Given the description of an element on the screen output the (x, y) to click on. 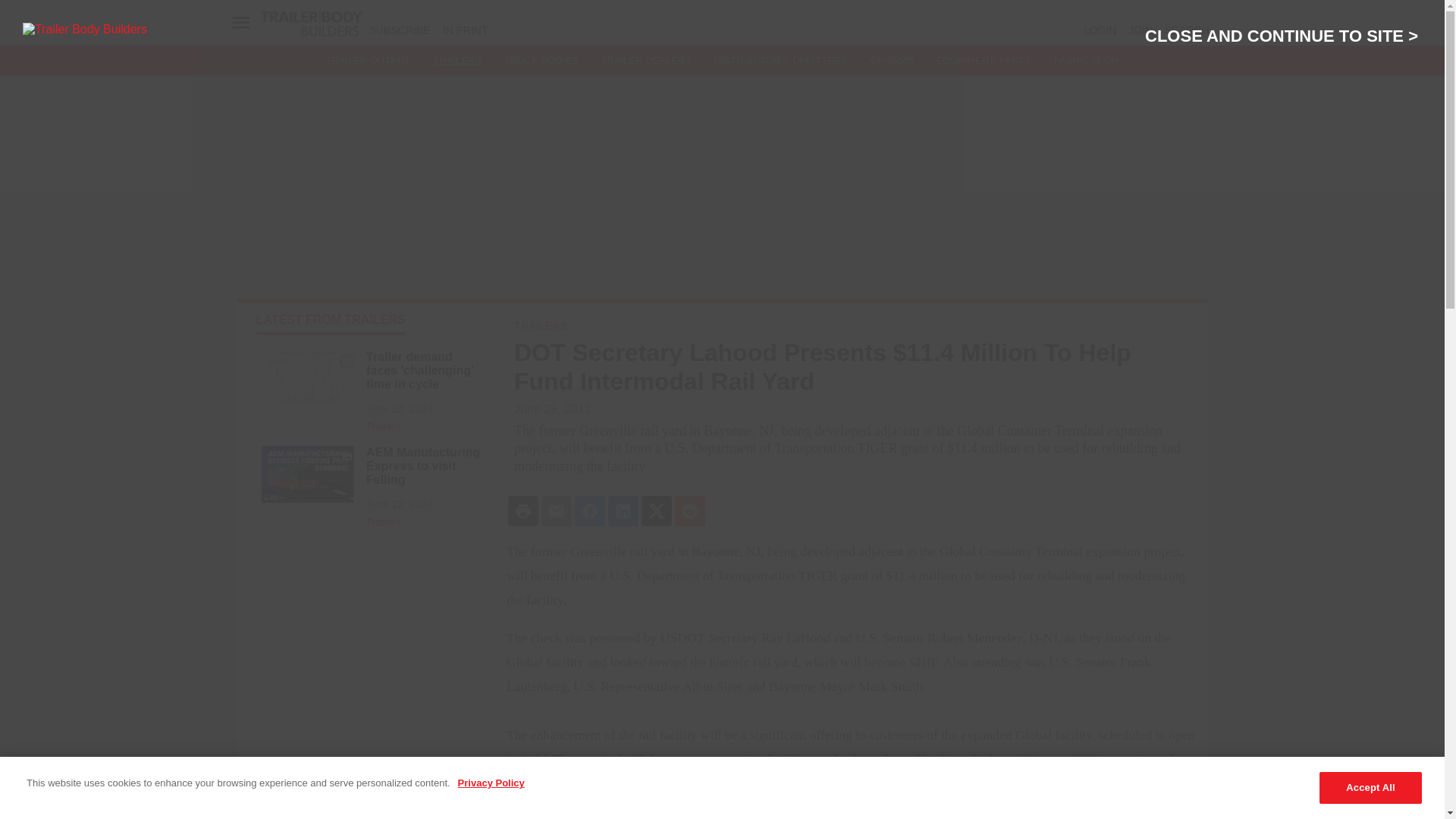
Trailers (424, 423)
TRAILER OUTPUT (367, 60)
DISTRIBUTORS, UPFITTERS (780, 60)
JOIN (1140, 30)
CHASSIS (892, 60)
FABRICATION (1086, 60)
LOGIN (1099, 30)
3rd party ad content (369, 649)
SUBSCRIBE (398, 30)
TRAILER DEALERS (644, 60)
EQUIPMENT, PARTS (983, 60)
TRAILERS (456, 60)
TRUCK BODIES (540, 60)
